Given the description of an element on the screen output the (x, y) to click on. 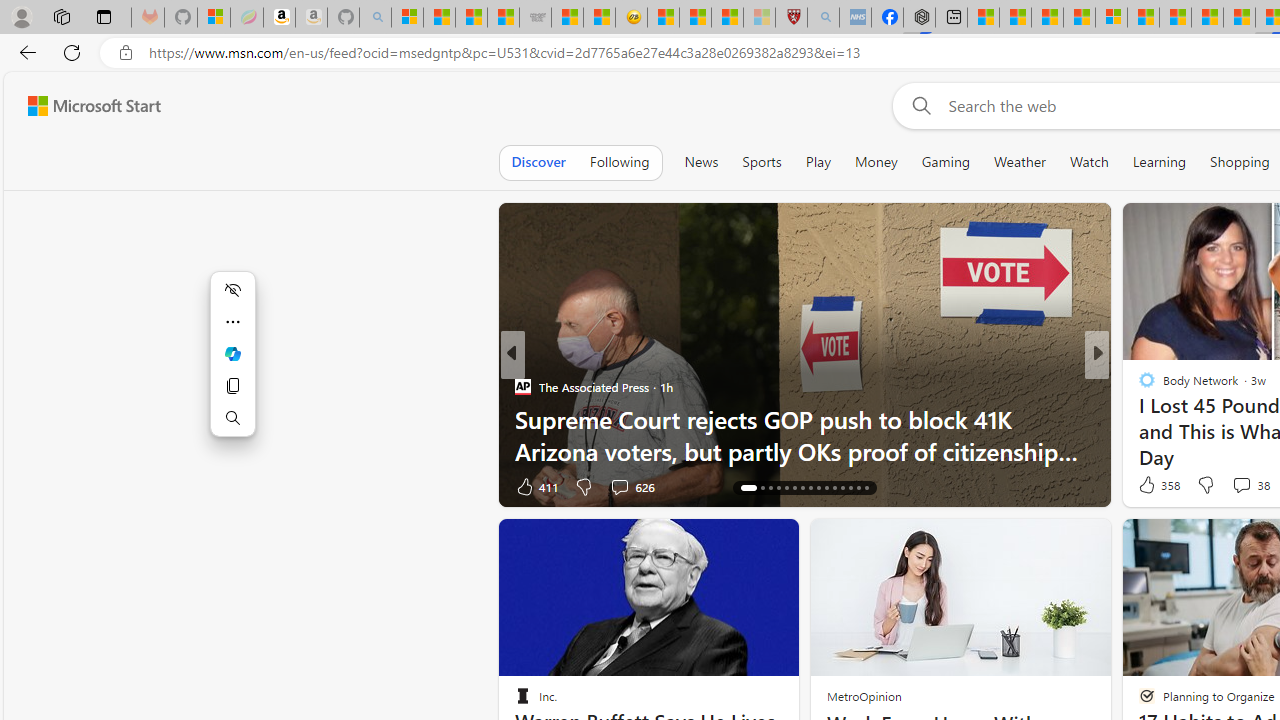
AutomationID: tab-23 (810, 487)
415 Like (1151, 486)
View comments 66 Comment (1244, 486)
411 Like (535, 486)
MetroOpinion (863, 696)
14 Like (1149, 486)
